Given the description of an element on the screen output the (x, y) to click on. 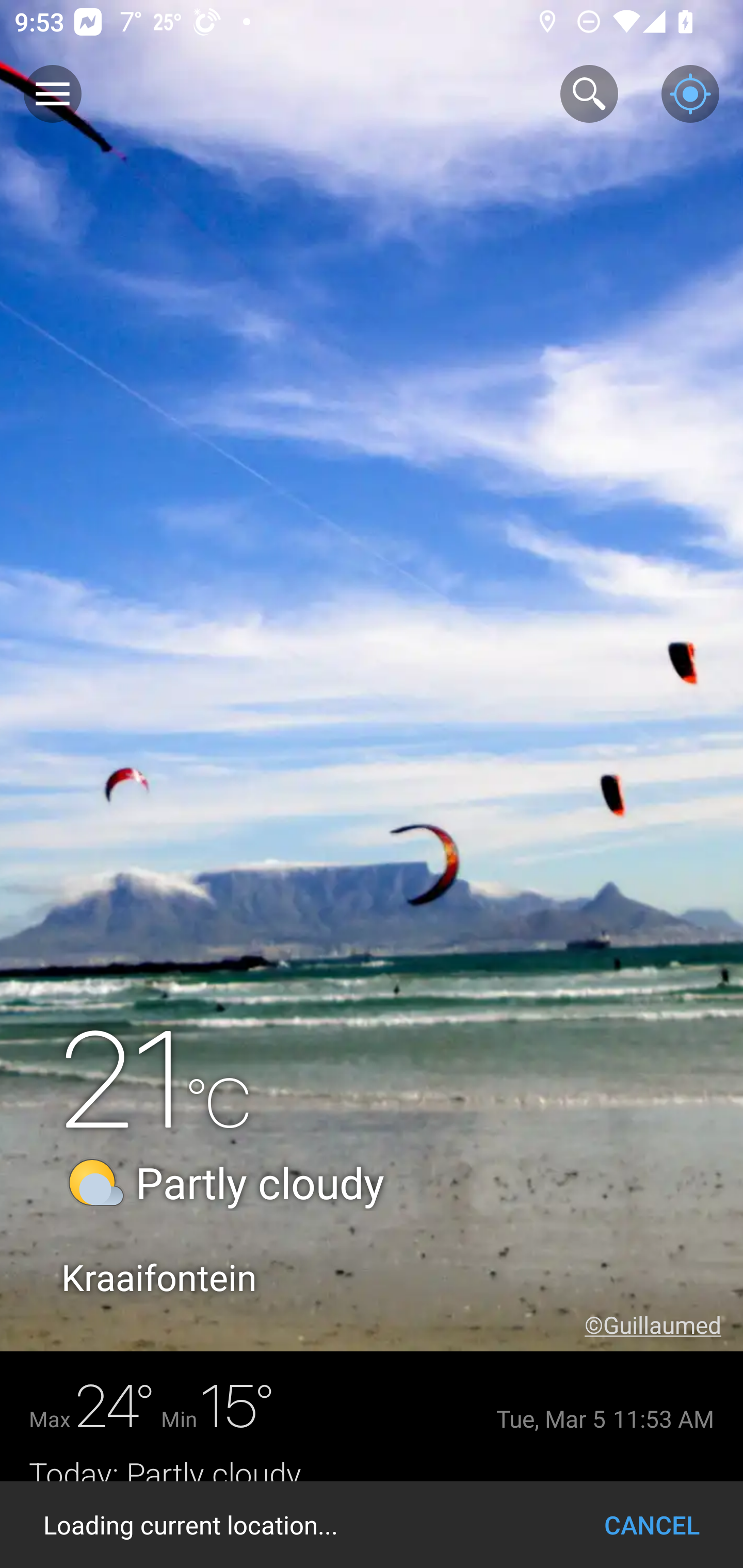
©Guillaumed (663, 1324)
Loading current location... CANCEL (371, 1524)
CANCEL (651, 1524)
